Given the description of an element on the screen output the (x, y) to click on. 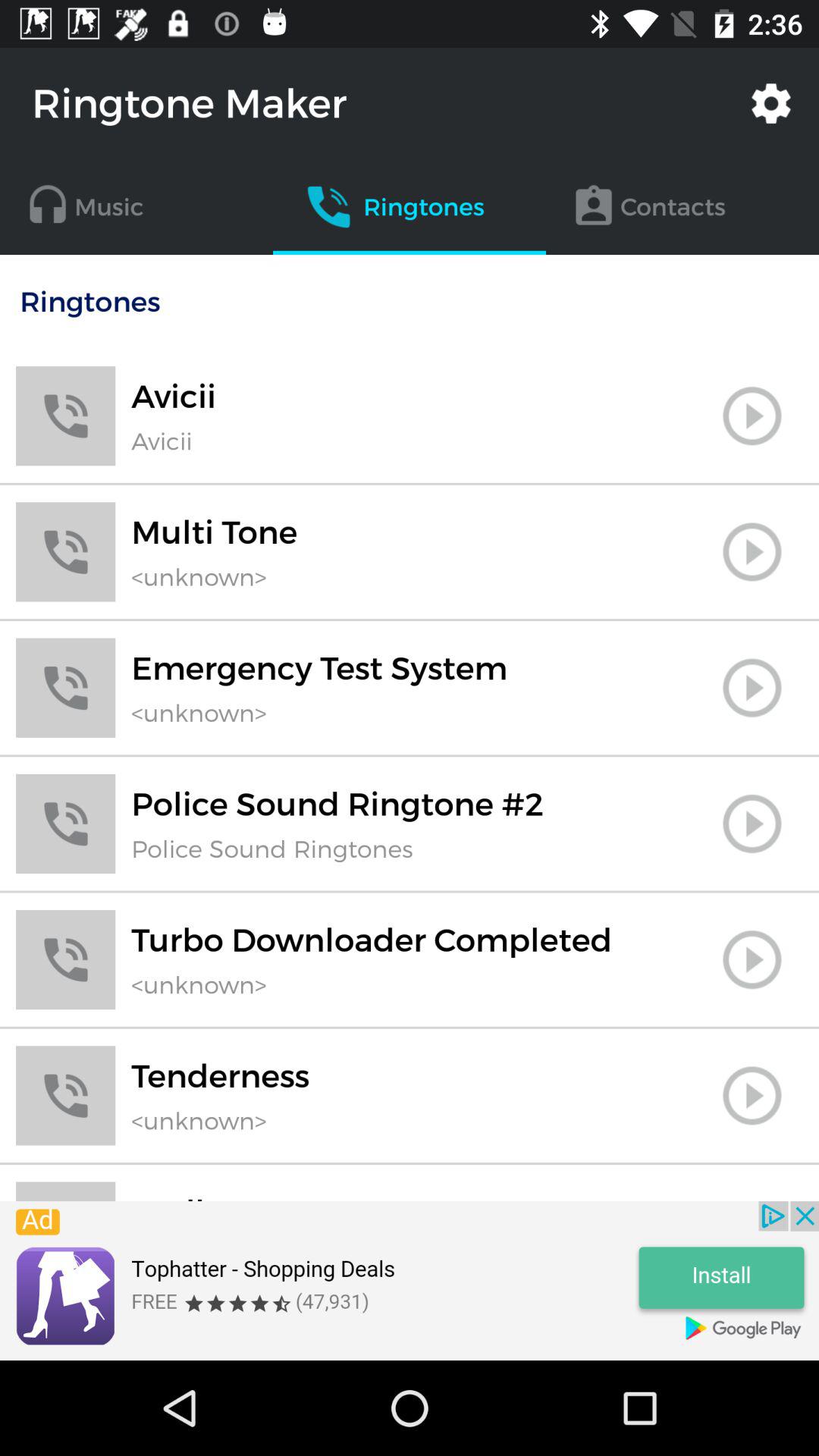
play ringtone (752, 416)
